Given the description of an element on the screen output the (x, y) to click on. 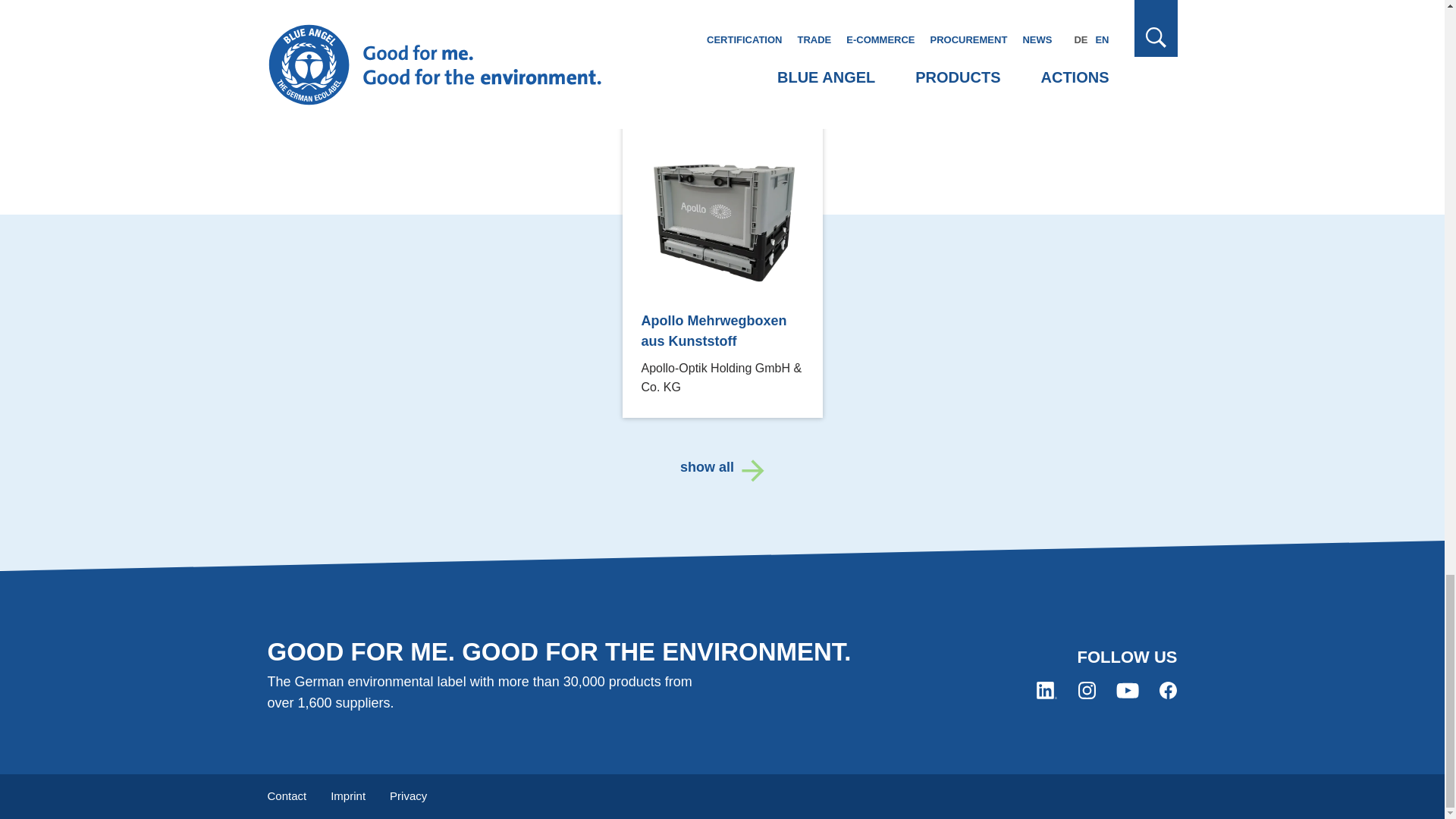
Blue Angel on YouTube (1127, 690)
Blue Angel on Facebook (1167, 690)
Blue Angel on LinkedIn (1046, 690)
Blue Angel on Instagram (1087, 690)
